Given the description of an element on the screen output the (x, y) to click on. 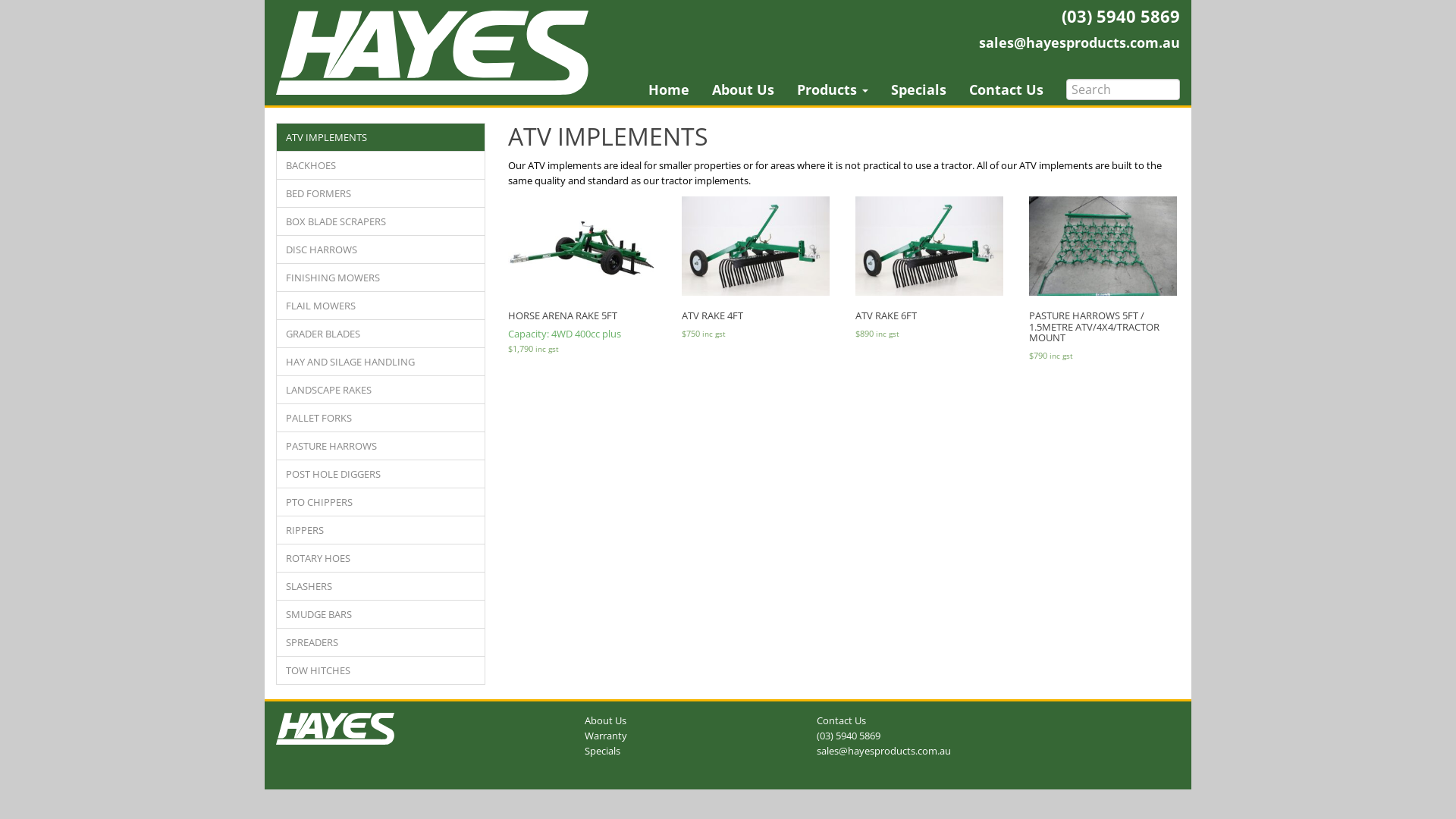
ATV RAKE 6FT
$890 inc gst Element type: text (929, 269)
HORSE ARENA RAKE 5FT
Capacity: 4WD 400cc plus
$1,790 inc gst Element type: text (581, 276)
BOX BLADE SCRAPERS Element type: text (380, 221)
SLASHERS Element type: text (380, 585)
TOW HITCHES Element type: text (380, 669)
POST HOLE DIGGERS Element type: text (380, 473)
Hayes Products Element type: hover (432, 52)
Products Element type: text (832, 89)
Contact Us Element type: text (841, 720)
Hayes Products Element type: hover (335, 728)
Email
sales@hayesproducts.com.au Element type: text (1079, 42)
Specials Element type: text (918, 89)
Email
sales@hayesproducts.com.au Element type: text (883, 750)
PASTURE HARROWS Element type: text (380, 445)
Contact Us Element type: text (1005, 89)
DISC HARROWS Element type: text (380, 249)
BED FORMERS Element type: text (380, 192)
Warranty Element type: text (605, 735)
RIPPERS Element type: text (380, 529)
About Us Element type: text (742, 89)
SMUDGE BARS Element type: text (380, 613)
FINISHING MOWERS Element type: text (380, 277)
FLAIL MOWERS Element type: text (380, 305)
LANDSCAPE RAKES Element type: text (380, 389)
ATV RAKE 4FT
$750 inc gst Element type: text (755, 269)
GRADER BLADES Element type: text (380, 333)
PALLET FORKS Element type: text (380, 417)
HAY AND SILAGE HANDLING Element type: text (380, 361)
Specials Element type: text (602, 750)
About Us Element type: text (605, 720)
ATV IMPLEMENTS Element type: text (380, 136)
BACKHOES Element type: text (380, 164)
Home Element type: text (668, 89)
Telephone
(03) 5940 5869 Element type: text (1120, 15)
ROTARY HOES Element type: text (380, 557)
Telephone
(03) 5940 5869 Element type: text (848, 735)
PTO CHIPPERS Element type: text (380, 501)
SPREADERS Element type: text (380, 641)
